Given the description of an element on the screen output the (x, y) to click on. 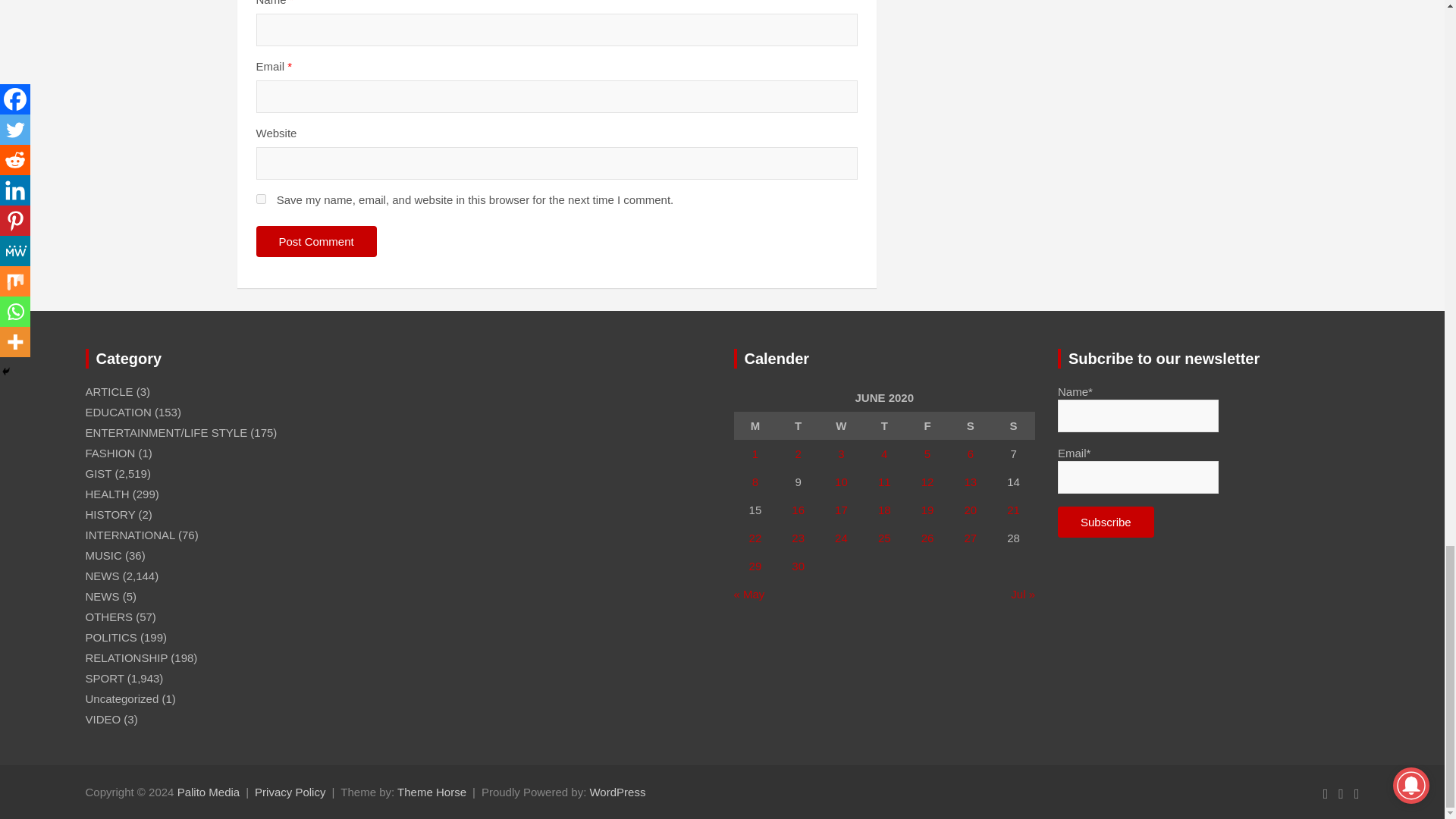
Post Comment (316, 241)
yes (261, 198)
Subscribe (1106, 521)
